Given the description of an element on the screen output the (x, y) to click on. 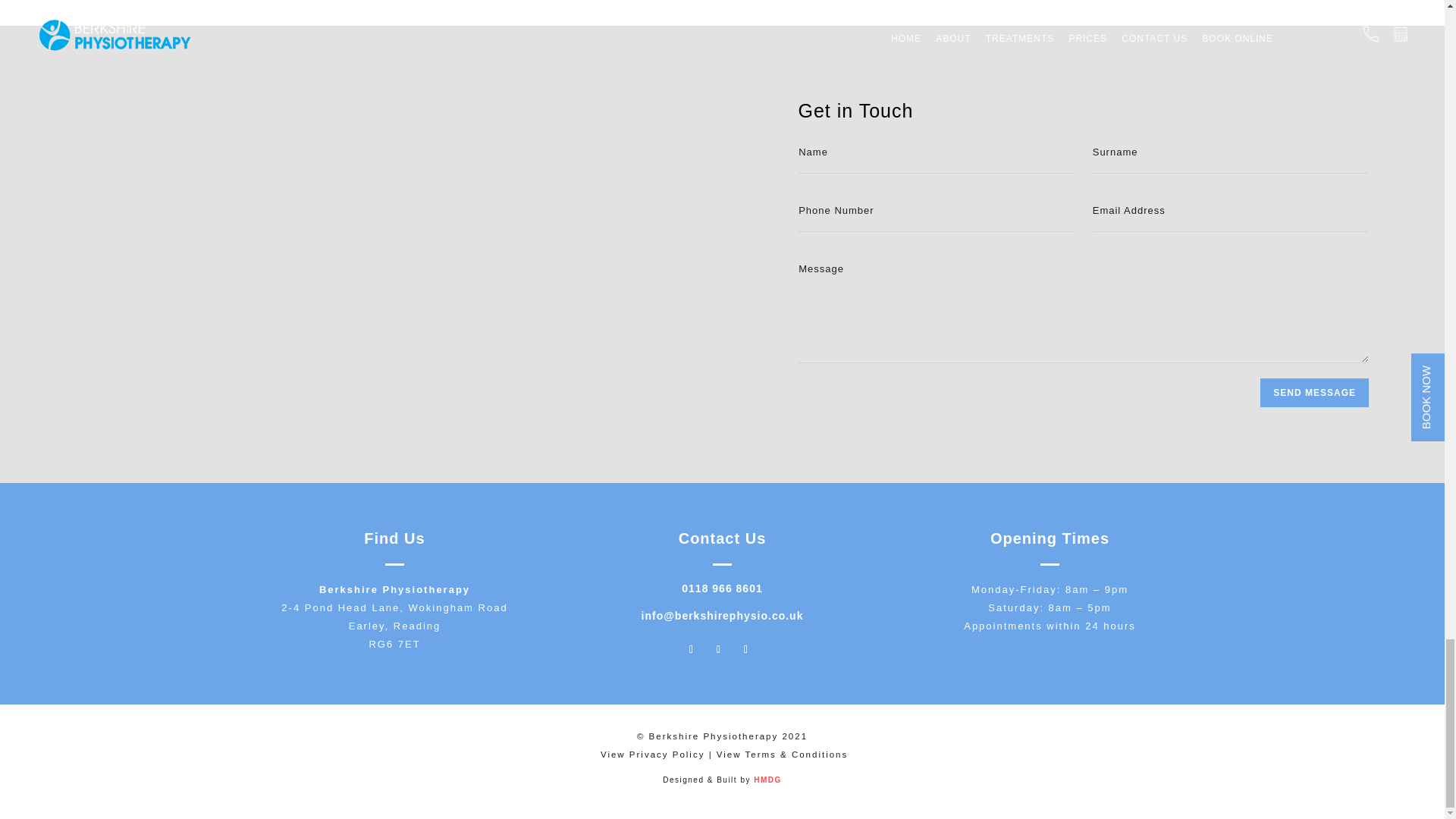
Follow on Instagram (746, 649)
Follow on X (718, 649)
Follow on Facebook (691, 649)
